Given the description of an element on the screen output the (x, y) to click on. 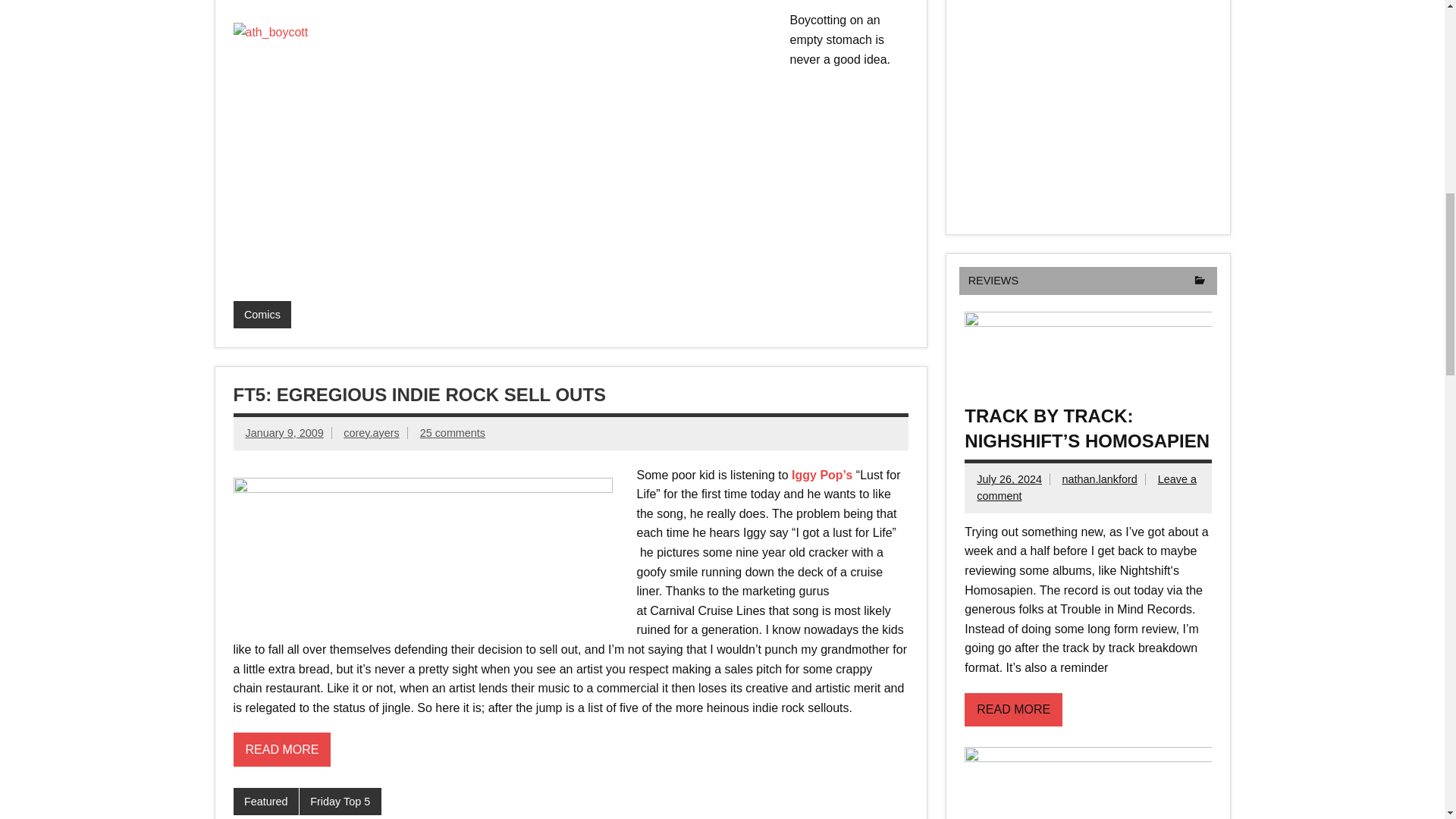
0109top5cover (422, 544)
Spotify Embed: ATH DJ - Oddwood Emo 5.30.24 (1087, 106)
corey.ayers (370, 432)
January 9, 2009 (284, 432)
Friday Top 5 (340, 800)
View all posts by corey.ayers (370, 432)
Comics (262, 314)
July 26, 2024 (1009, 479)
FT5: EGREGIOUS INDIE ROCK SELL OUTS (419, 394)
READ MORE (281, 749)
